Given the description of an element on the screen output the (x, y) to click on. 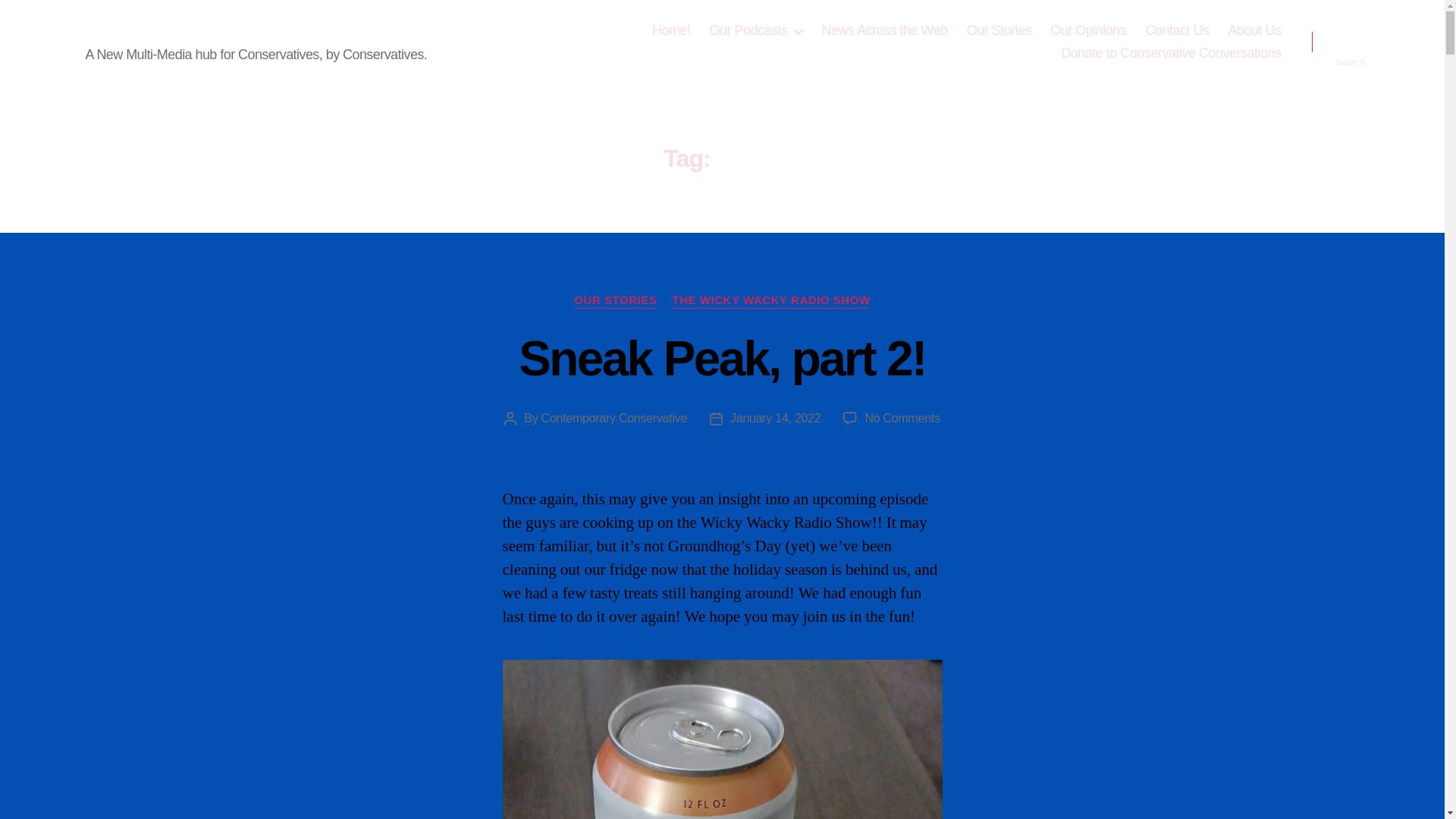
Our Podcasts (755, 30)
Our Stories (999, 30)
About Us (1254, 30)
Contemporary Conservative (614, 418)
Contemporary Conservative (197, 30)
News Across the Web (884, 30)
THE WICKY WACKY RADIO SHOW (770, 300)
Our Opinions (1087, 30)
Contact Us (1176, 30)
Search (1350, 41)
